Given the description of an element on the screen output the (x, y) to click on. 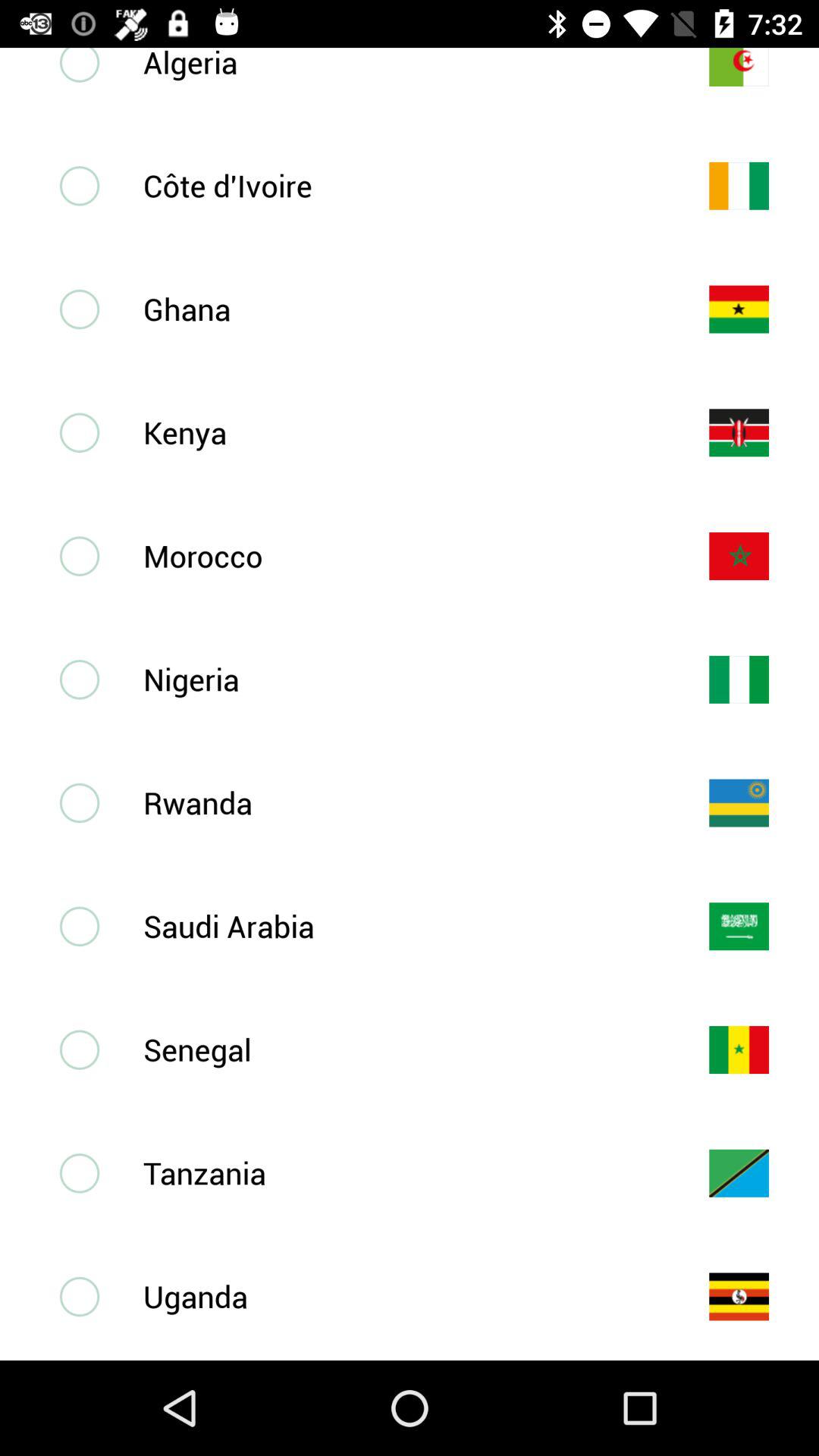
jump until the algeria (401, 64)
